Given the description of an element on the screen output the (x, y) to click on. 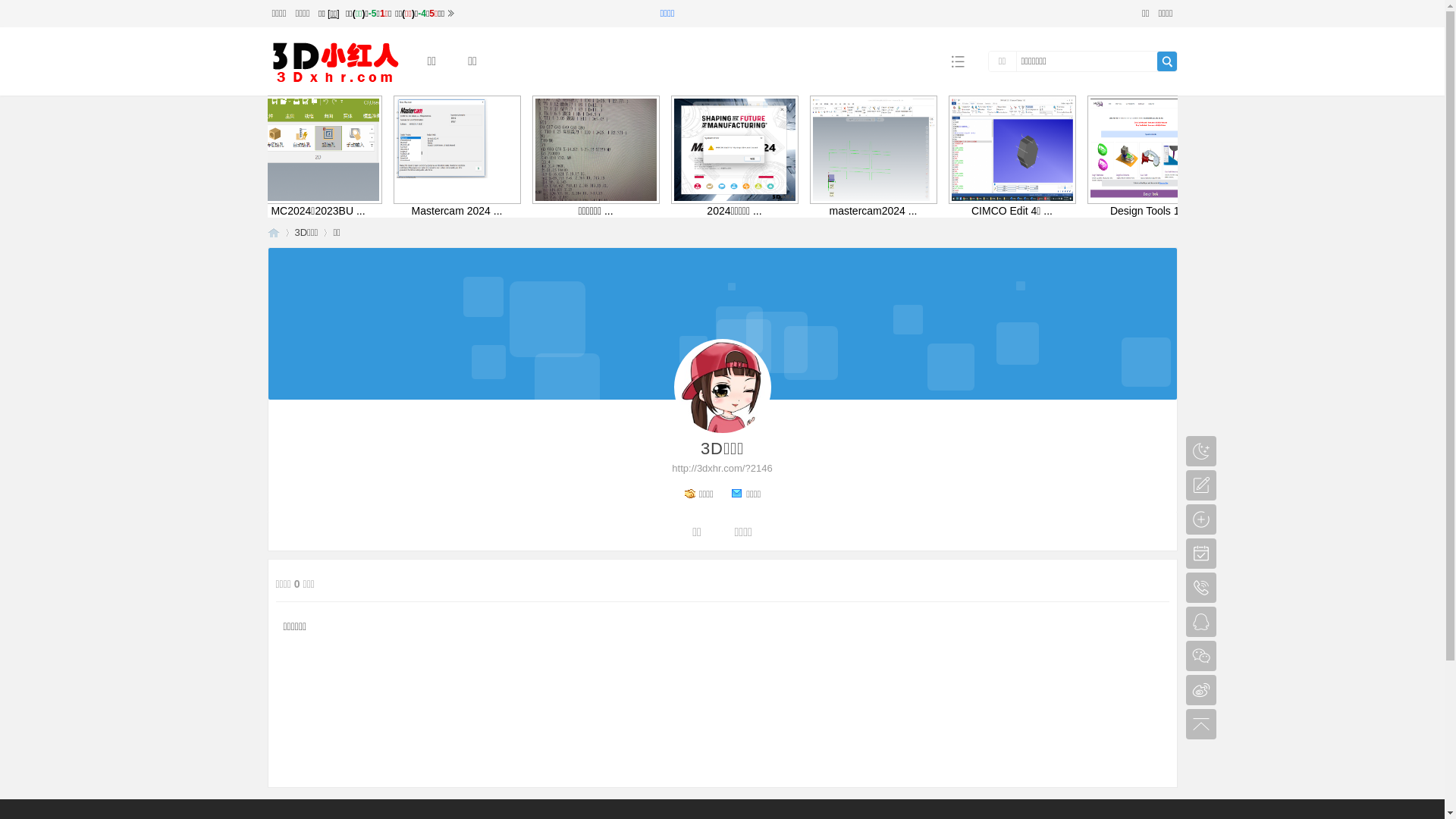
Mastercam 2024 ... Element type: text (292, 210)
Mastercam 2024 ... Element type: hover (489, 149)
true Element type: text (1166, 61)
Mastercam 2024 ... Element type: hover (216, 149)
Mastercam 2024 ... Element type: text (566, 210)
Design Tools 1 ... Element type: hover (1172, 149)
http://3dxhr.com/?2146 Element type: text (721, 467)
mastercam2024 ... Element type: text (977, 210)
mastercam2024  ... Element type: hover (899, 149)
